Given the description of an element on the screen output the (x, y) to click on. 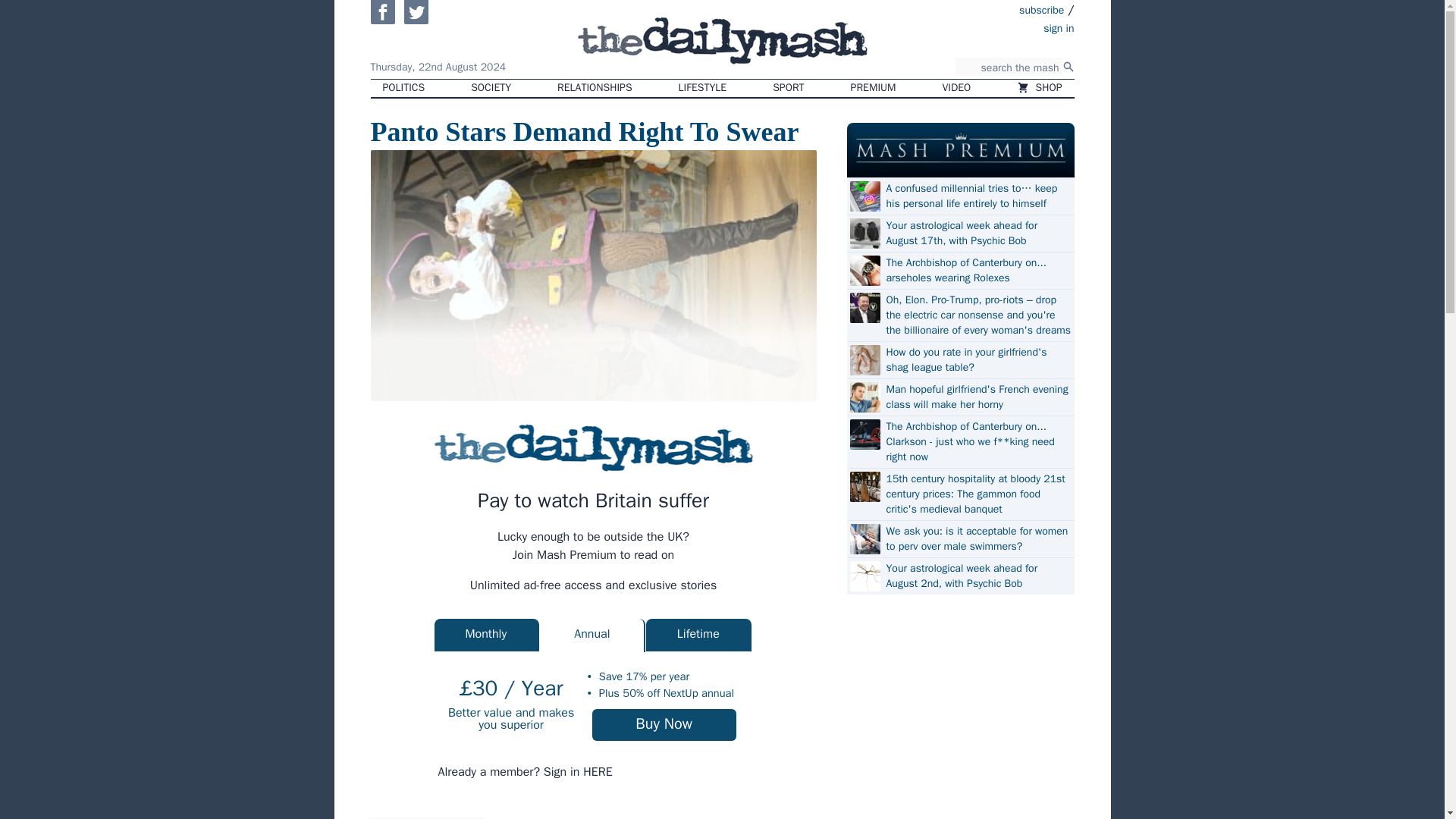
PREMIUM (873, 88)
POLITICS (402, 88)
LIFESTYLE (702, 88)
SHOP (1039, 88)
Buy Now (664, 725)
SPORT (787, 88)
SOCIETY (490, 88)
The Archbishop of Canterbury on... arseholes wearing Rolexes (977, 270)
